Given the description of an element on the screen output the (x, y) to click on. 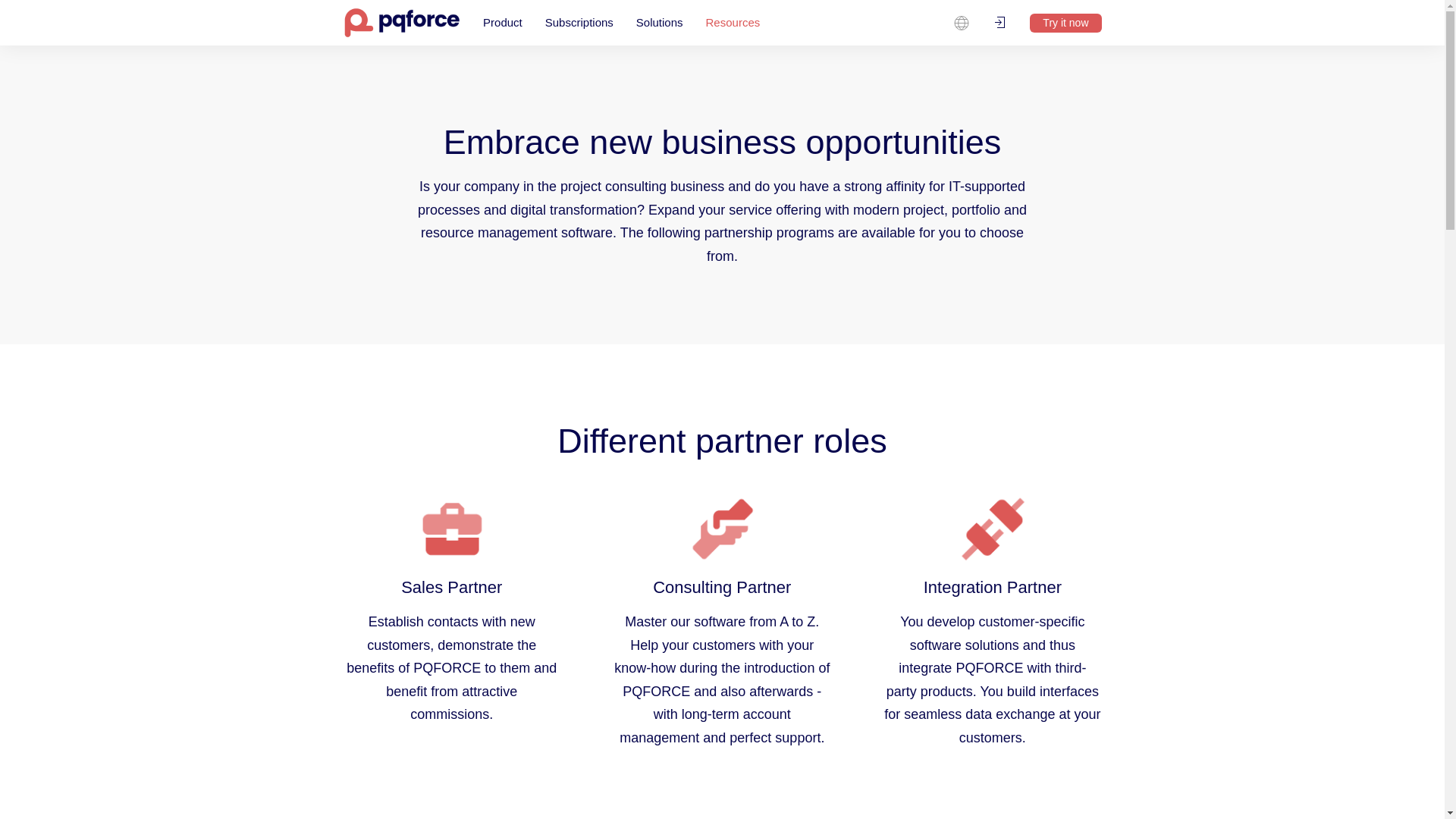
Solutions (659, 22)
Try it now (1064, 22)
Resources (732, 22)
Subscriptions (579, 22)
Product (502, 22)
